Given the description of an element on the screen output the (x, y) to click on. 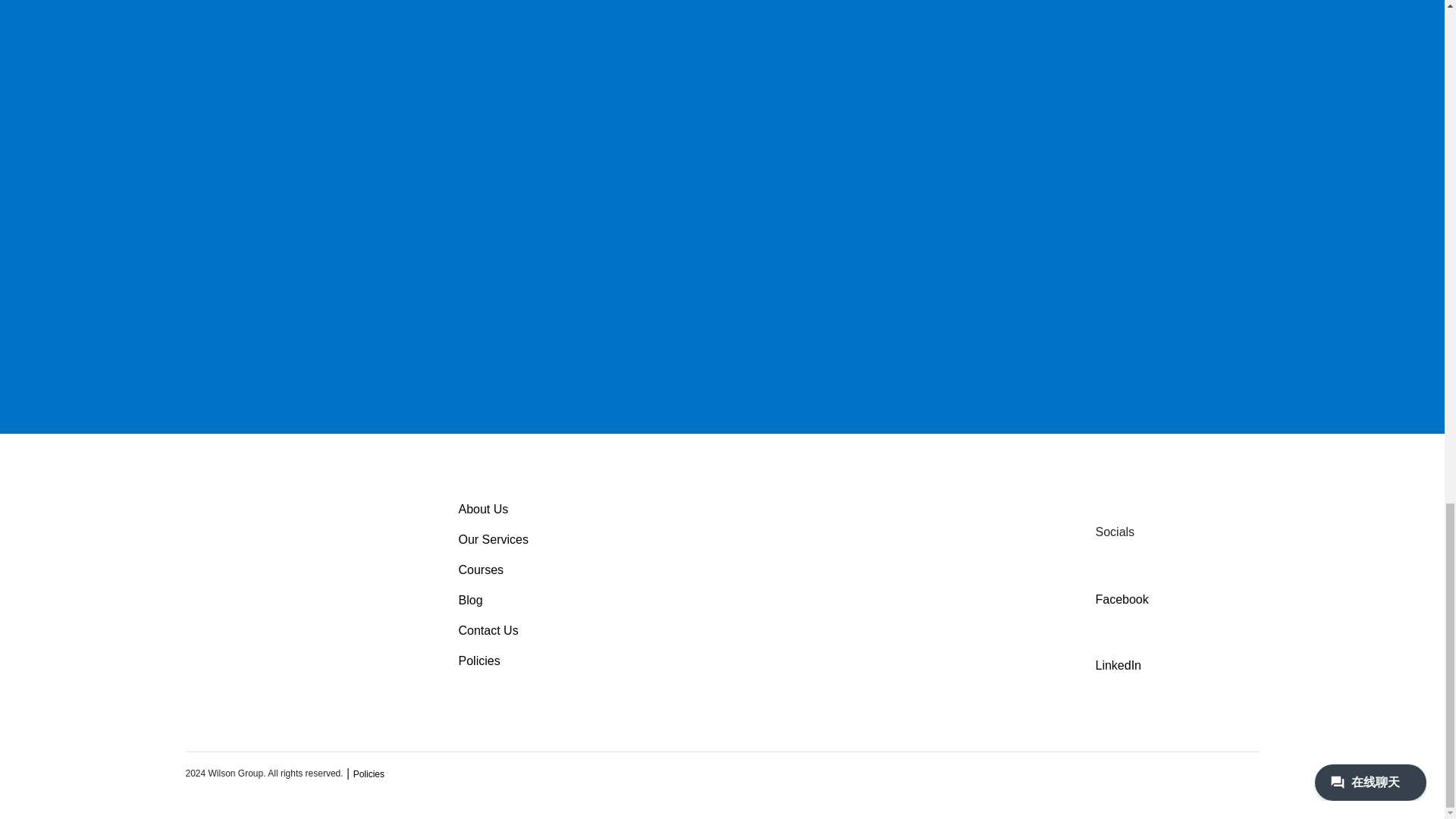
LinkedIn (1119, 649)
Facebook (1122, 580)
Policies (478, 660)
Contact Us (488, 630)
Our Services (492, 539)
Blog (469, 599)
Courses (480, 569)
About Us (483, 508)
Policies (368, 774)
